Given the description of an element on the screen output the (x, y) to click on. 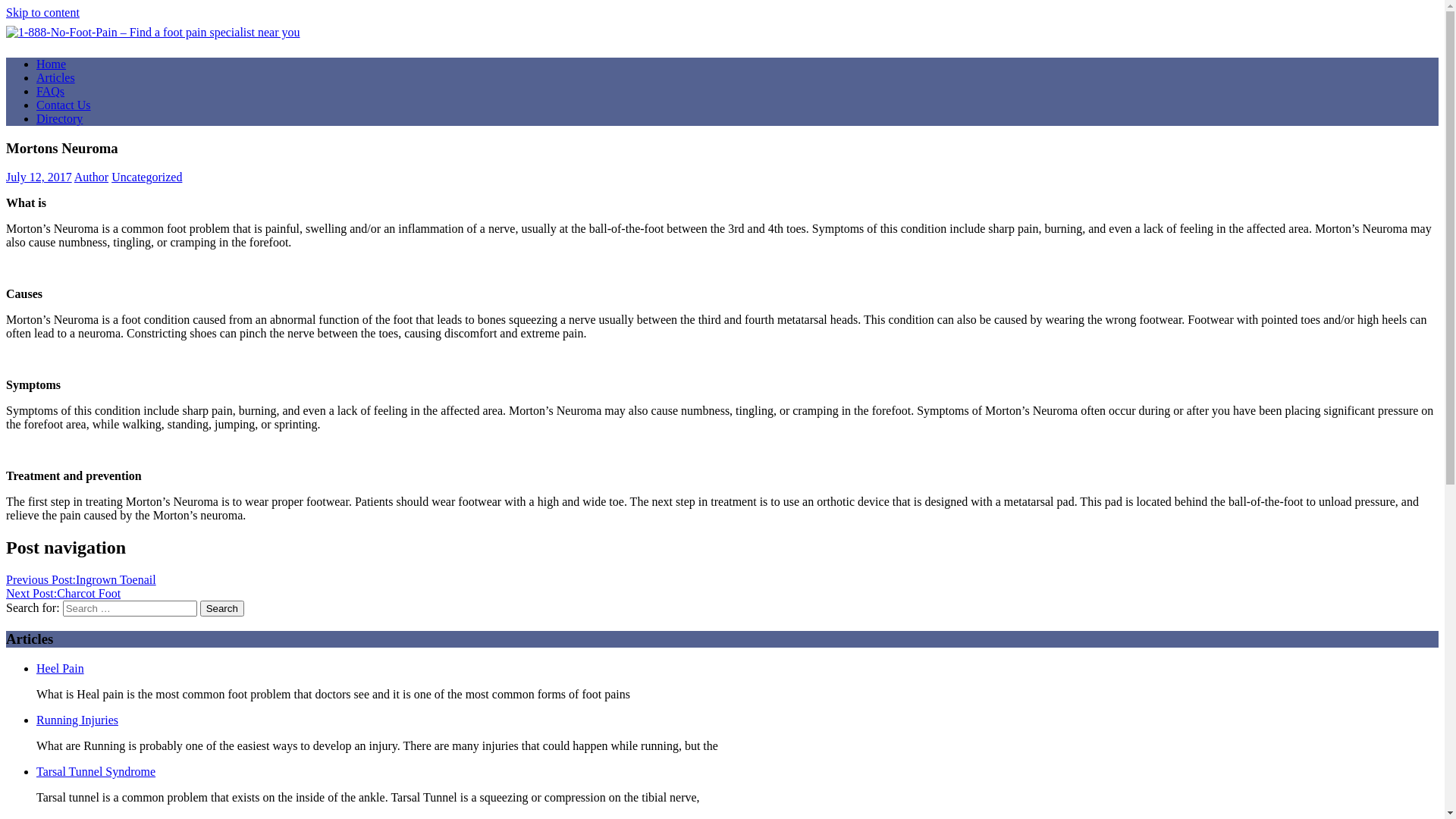
Tarsal Tunnel Syndrome Element type: text (95, 771)
July 12, 2017 Element type: text (39, 176)
Next Post:Charcot Foot Element type: text (63, 592)
Contact Us Element type: text (63, 104)
Running Injuries Element type: text (77, 719)
Articles Element type: text (55, 77)
Uncategorized Element type: text (146, 176)
Directory Element type: text (59, 118)
Search for: Element type: hover (129, 608)
Home Element type: text (50, 63)
Search Element type: text (222, 608)
Heel Pain Element type: text (60, 668)
Skip to content Element type: text (42, 12)
Previous Post:Ingrown Toenail Element type: text (81, 579)
Author Element type: text (91, 176)
FAQs Element type: text (50, 90)
